Given the description of an element on the screen output the (x, y) to click on. 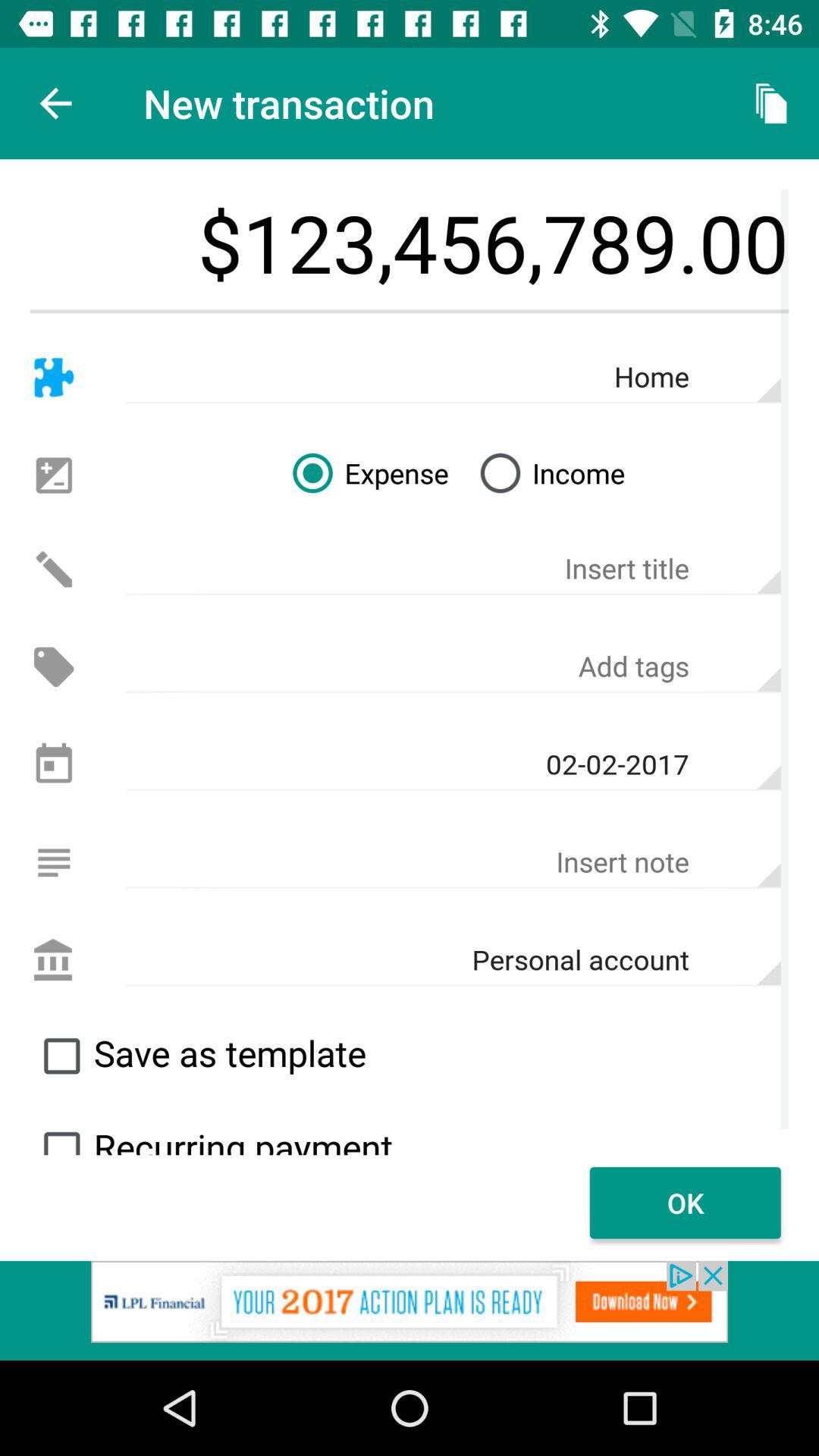
search (61, 1136)
